Given the description of an element on the screen output the (x, y) to click on. 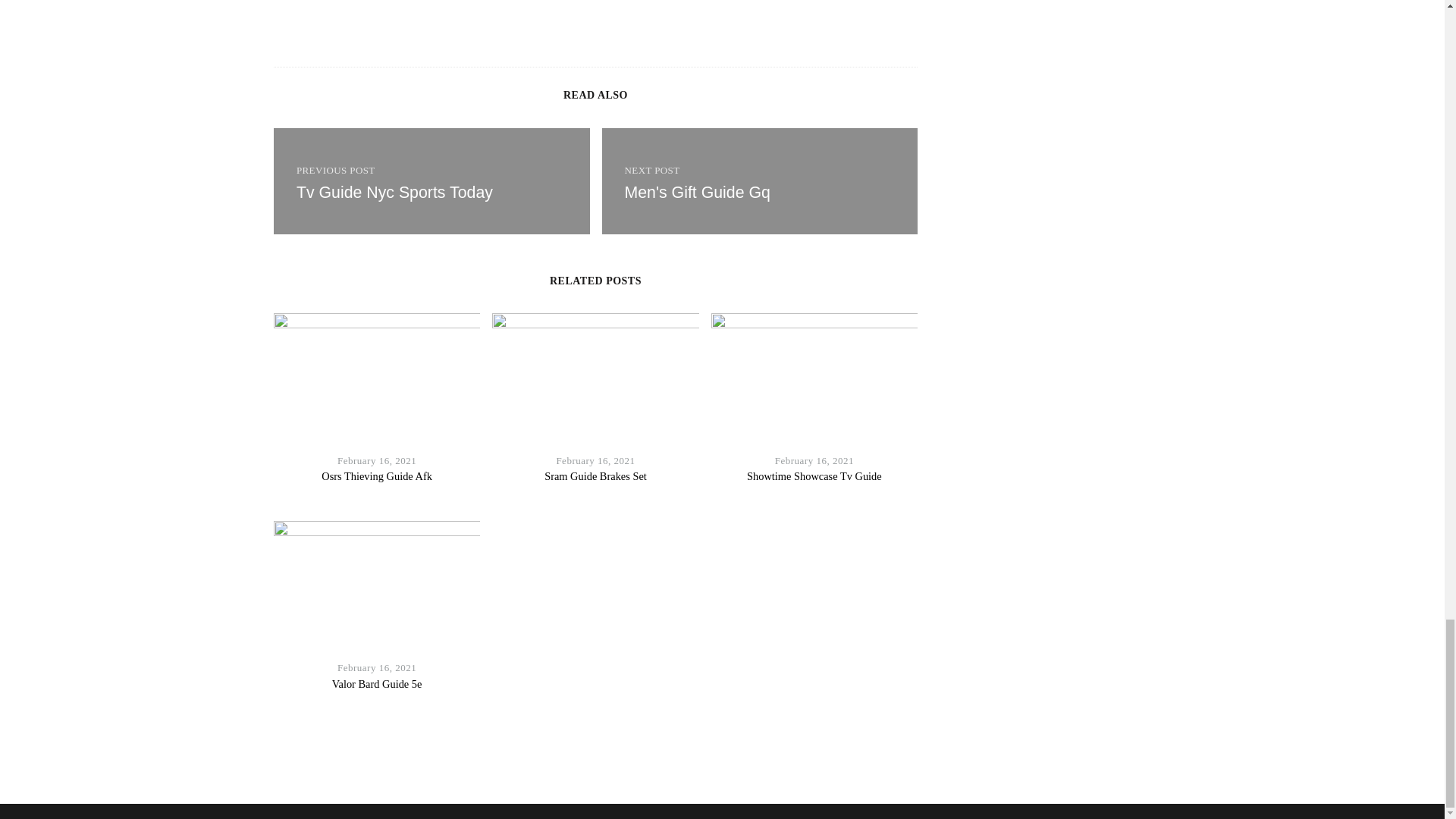
Men's Gift Guide Gq (760, 180)
Circular Saw Guide System (760, 180)
Men's Gift Guide Gq (697, 192)
Circular Saw Guide System (431, 180)
Circular Saw Guide System (395, 192)
Osrs Thieving Guide Afk (376, 476)
Showtime Showcase Tv Guide (814, 476)
Sram Guide Brakes Set (595, 476)
Circular Saw Guide System (697, 192)
Tv Guide Nyc Sports Today (395, 192)
Tv Guide Nyc Sports Today (431, 180)
